Given the description of an element on the screen output the (x, y) to click on. 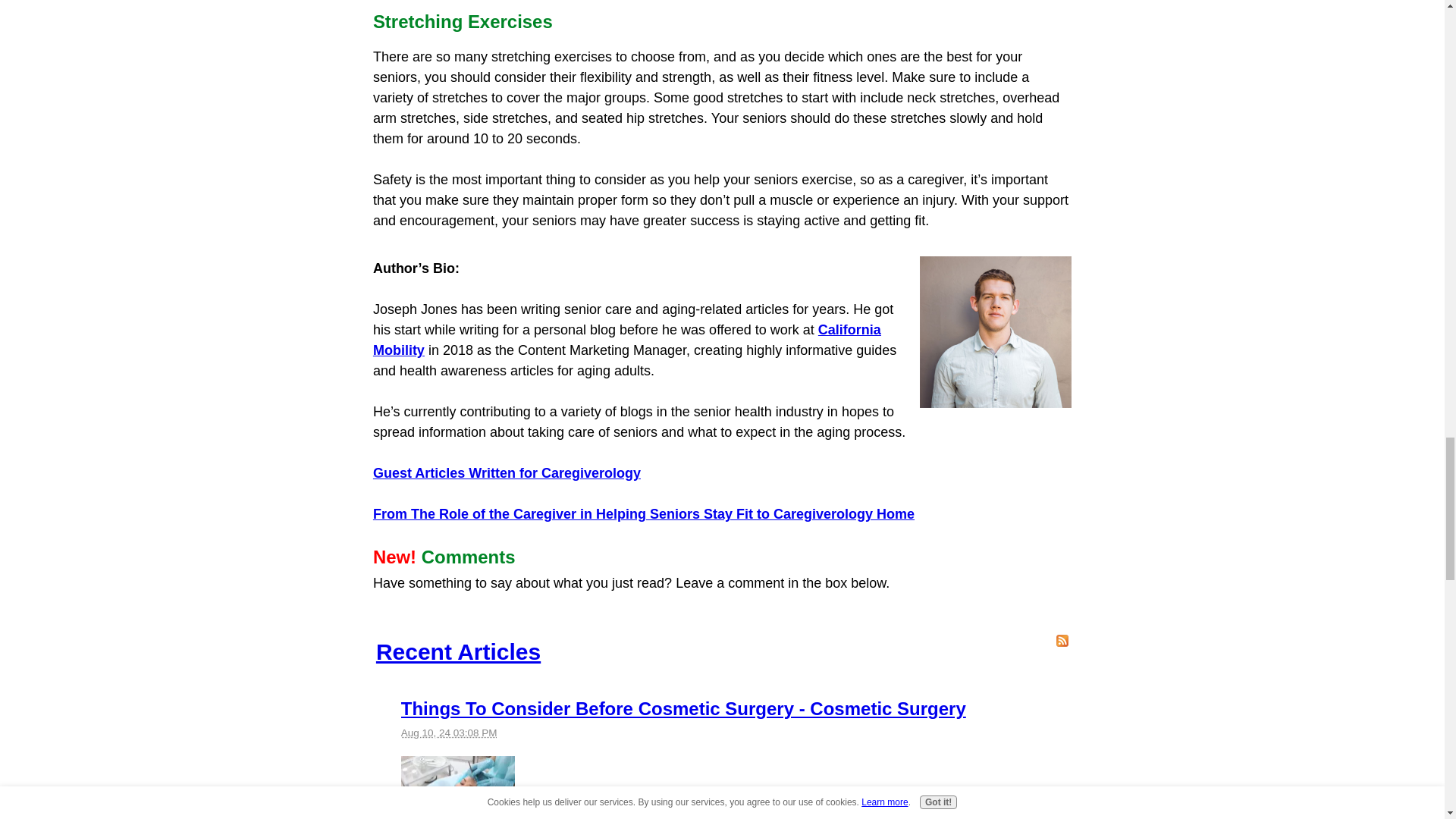
Guest Articles Written for Caregiverology (506, 473)
California Mobility (626, 339)
Recent Articles (457, 651)
2024-08-10T15:08:54-0400 (449, 732)
